Given the description of an element on the screen output the (x, y) to click on. 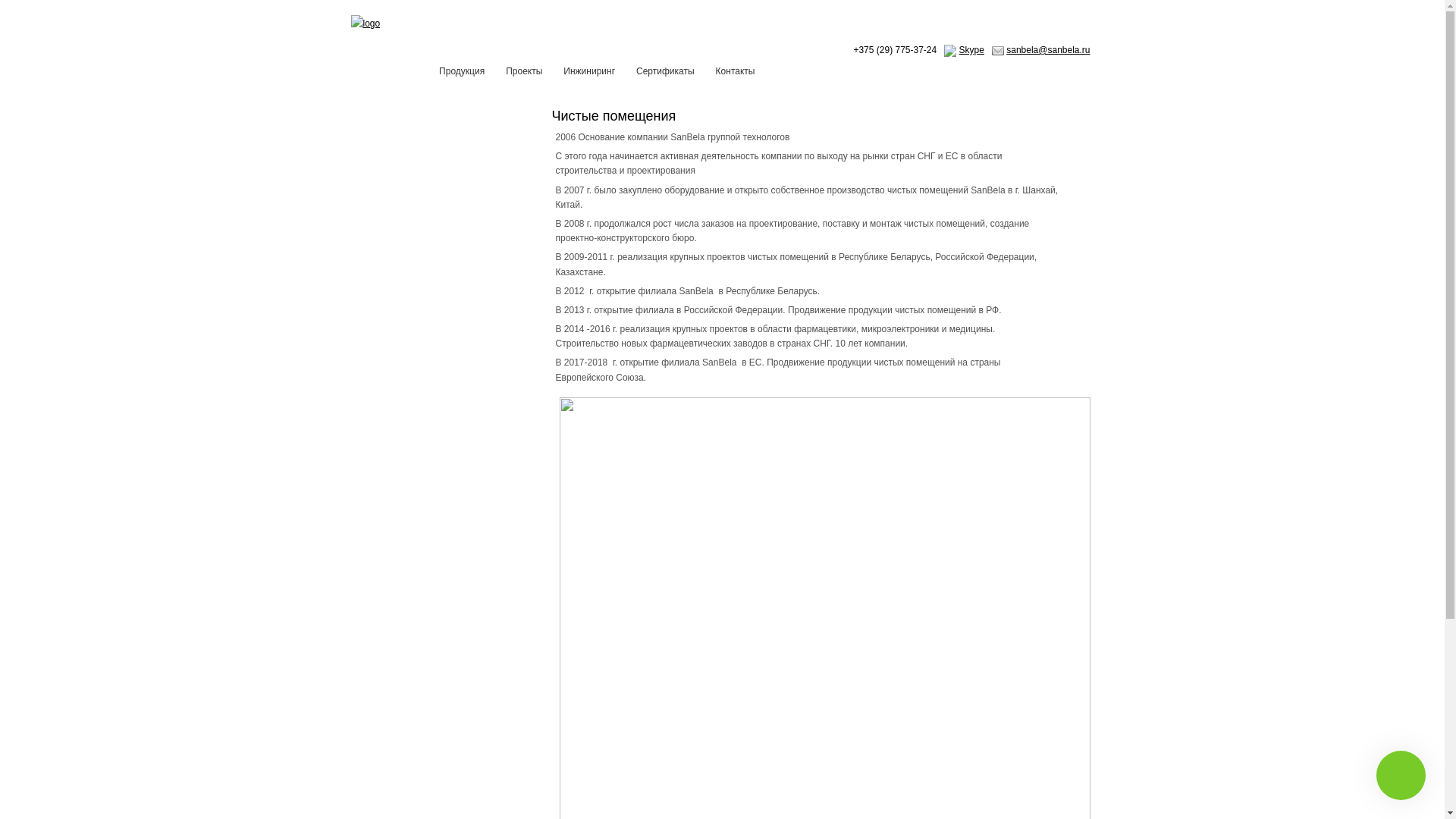
sanbela@sanbela.ru Element type: text (1047, 49)
Skype Element type: text (971, 49)
